Given the description of an element on the screen output the (x, y) to click on. 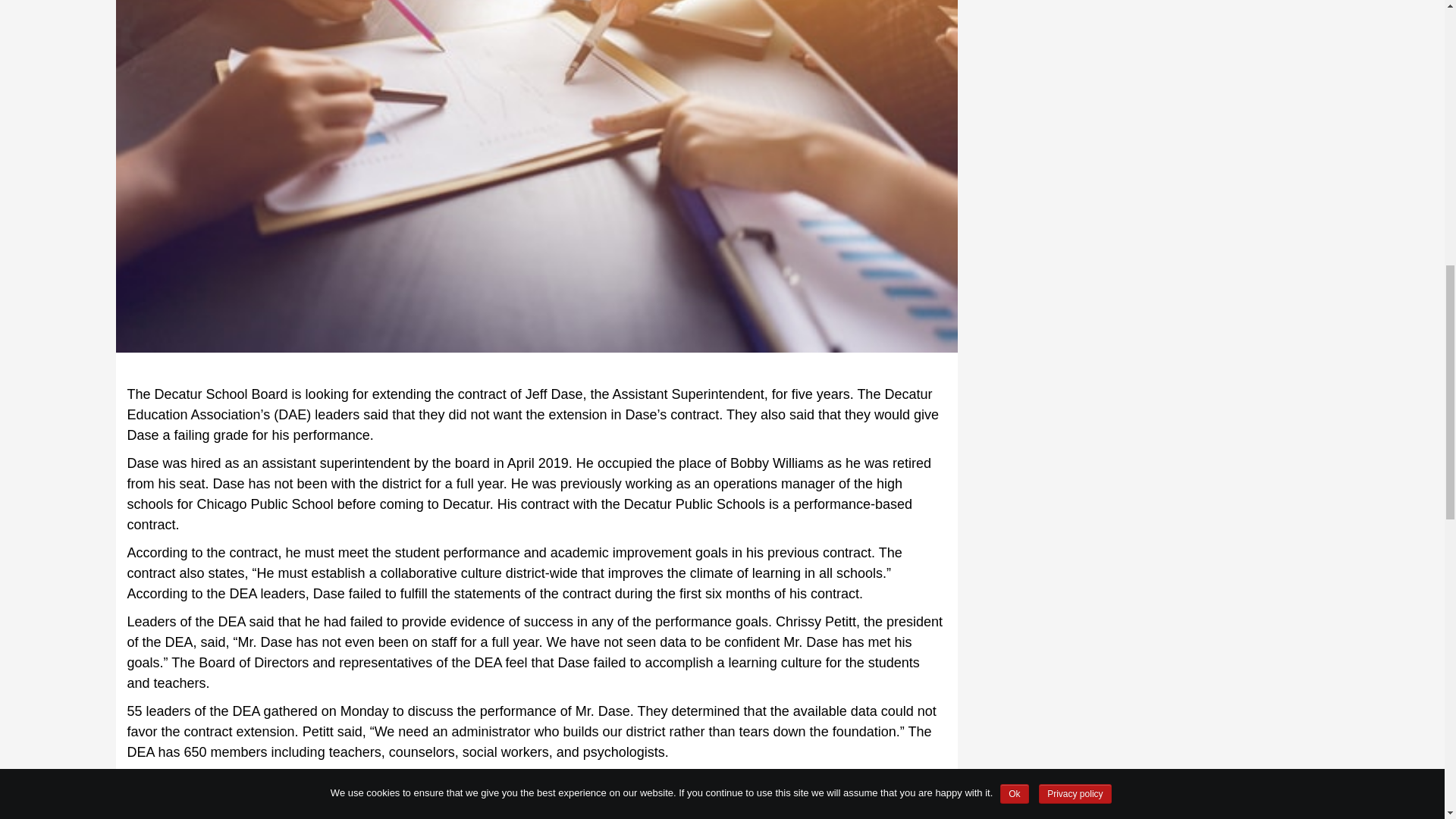
Flipboard (142, 785)
Twitter (229, 785)
Facebook (200, 785)
Mix (170, 785)
